Given the description of an element on the screen output the (x, y) to click on. 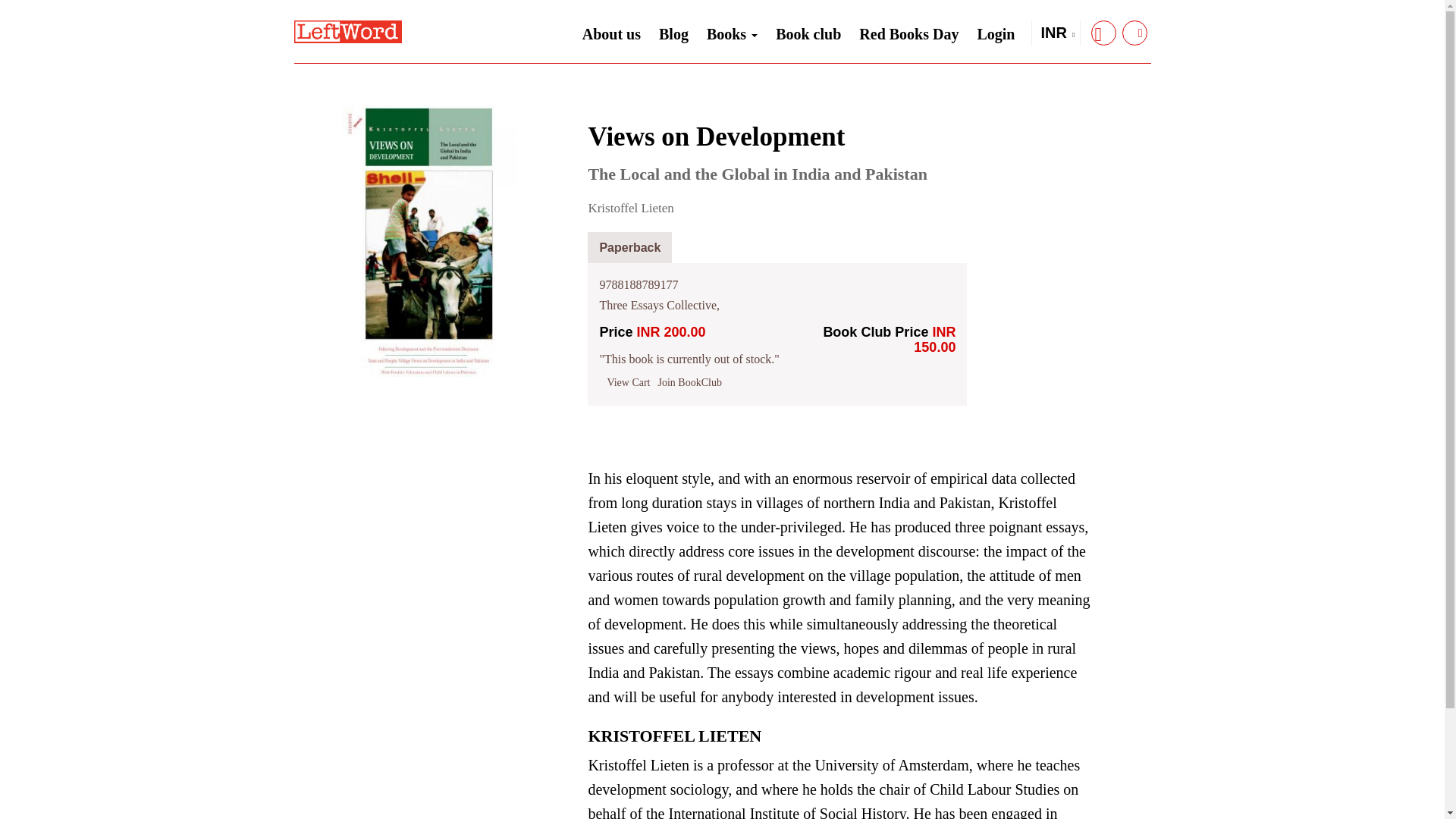
View Cart (628, 382)
KRISTOFFEL LIETEN (674, 739)
Paperback (629, 247)
Three Essays Collective, (658, 305)
Blog (673, 34)
Kristoffel Lieten (630, 207)
Join BookClub (690, 382)
Books (732, 31)
Book club (808, 34)
About us (611, 34)
